Given the description of an element on the screen output the (x, y) to click on. 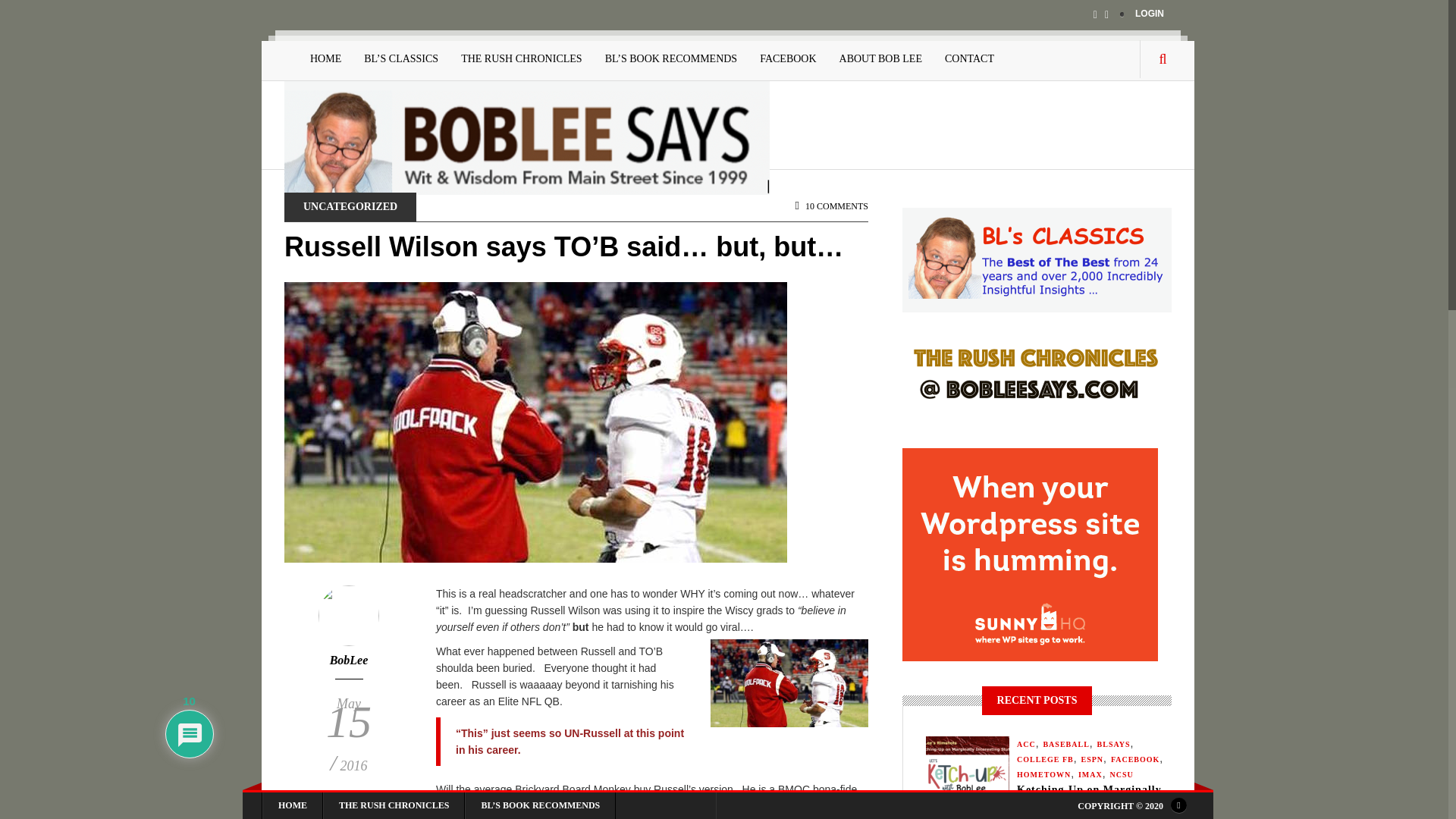
UNCATEGORIZED (349, 206)
BobLee (349, 659)
LOGIN (1149, 13)
CONTACT (969, 58)
10 COMMENTS (830, 205)
FACEBOOK (787, 58)
HOME (325, 58)
ABOUT BOB LEE (880, 58)
THE RUSH CHRONICLES (520, 58)
